Given the description of an element on the screen output the (x, y) to click on. 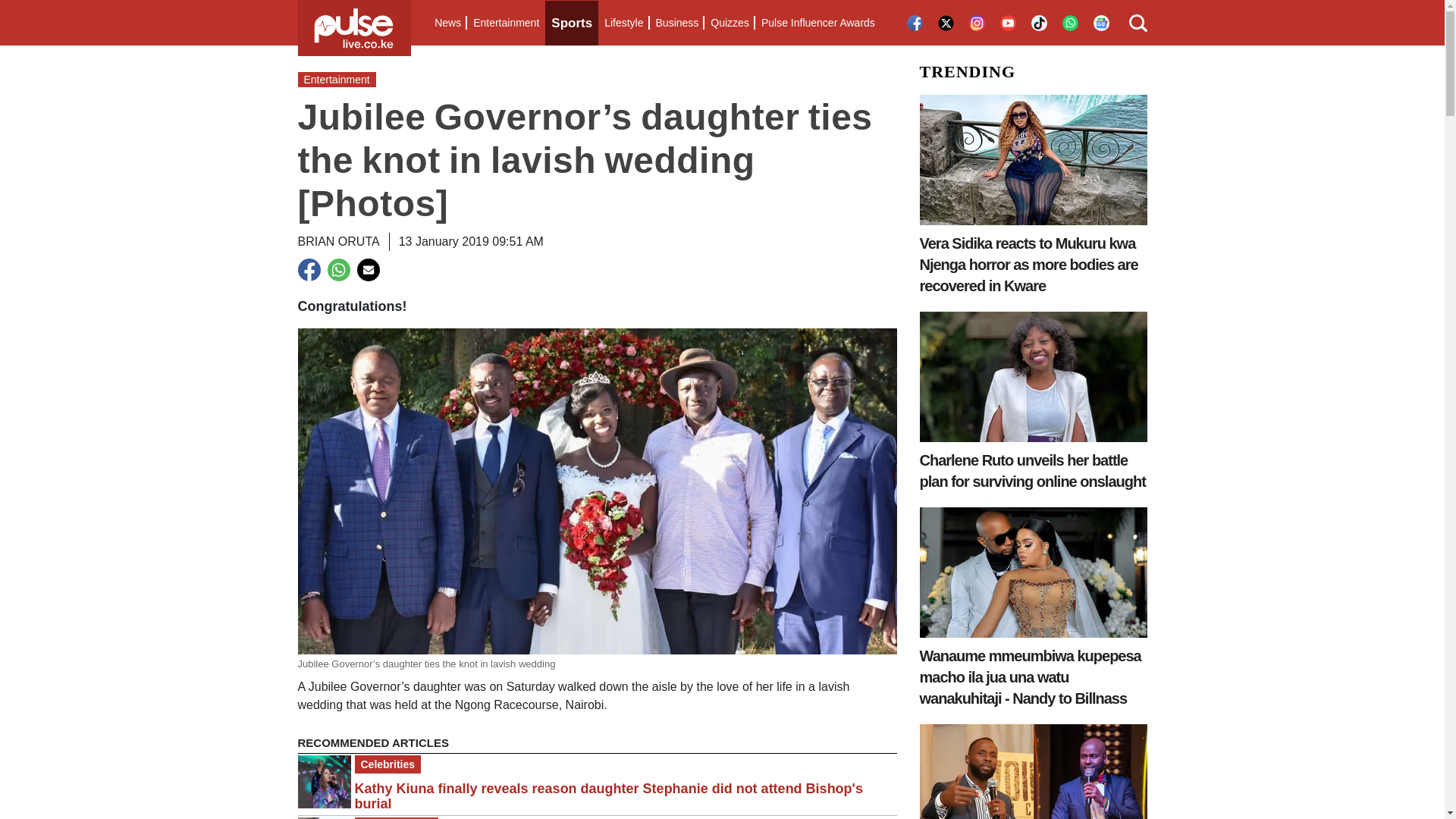
Quizzes (729, 22)
Entertainment (505, 22)
Sports (571, 22)
Lifestyle (623, 22)
Pulse Influencer Awards (817, 22)
Business (676, 22)
